Given the description of an element on the screen output the (x, y) to click on. 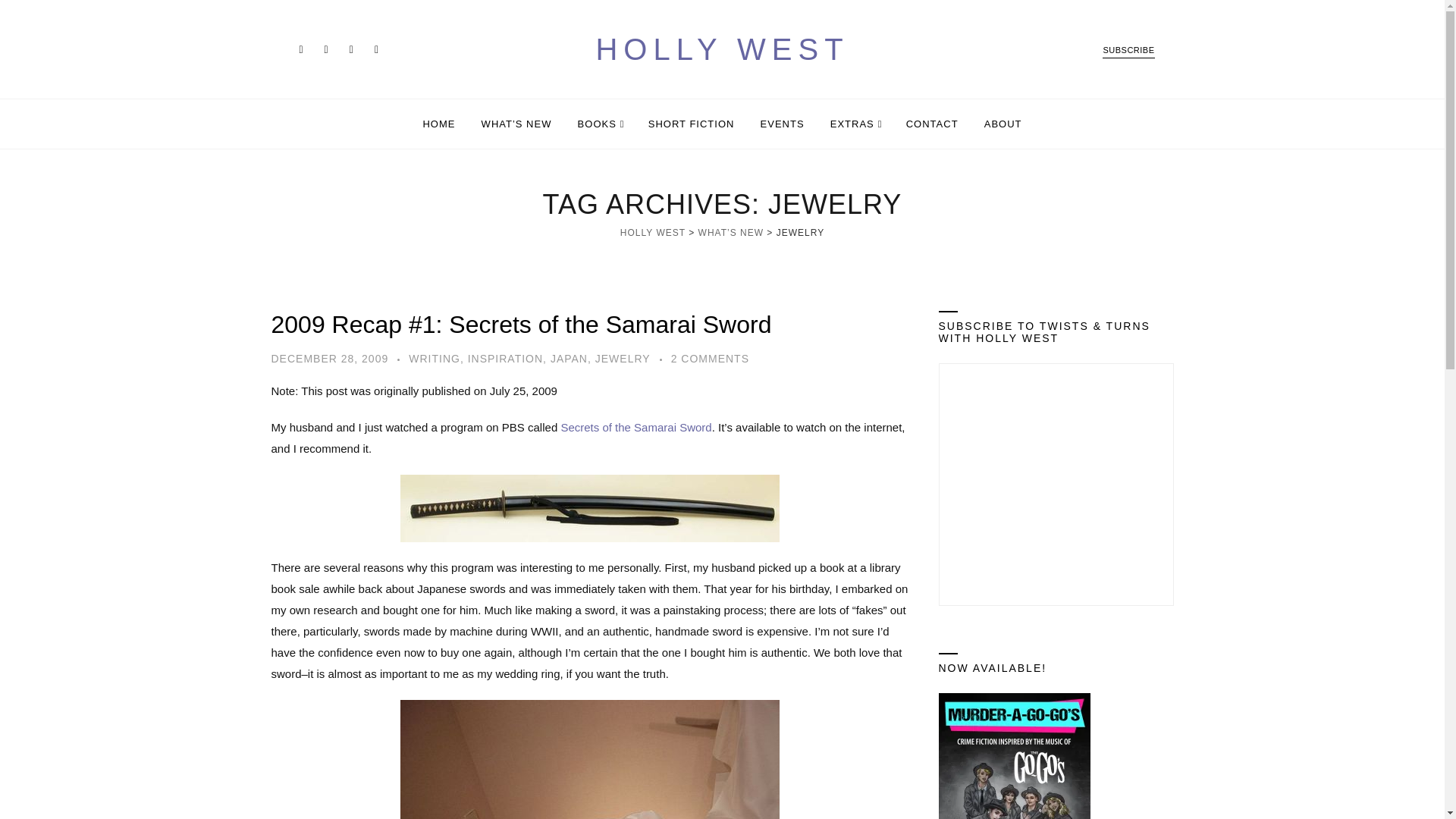
Secrets of the Samarai Sword (635, 427)
EVENTS (782, 123)
Holly West (722, 49)
WRITING (434, 358)
DECEMBER 28, 2009 (329, 358)
CONTACT (931, 123)
JEWELRY (622, 358)
INSPIRATION (505, 358)
HOLLY WEST (722, 49)
HOLLY WEST (652, 232)
